Given the description of an element on the screen output the (x, y) to click on. 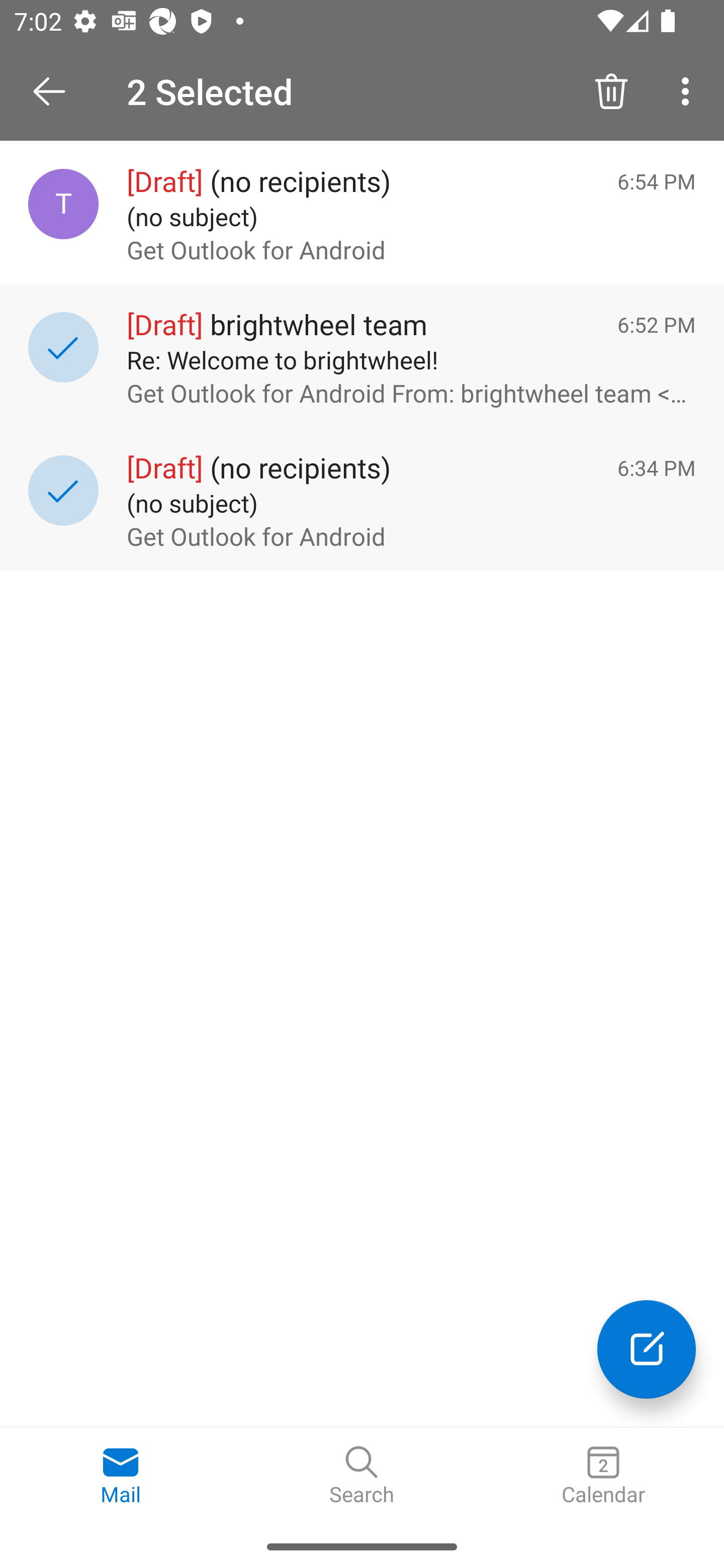
Delete (611, 90)
More options (688, 90)
Open Navigation Drawer (55, 91)
testappium001@outlook.com (63, 204)
Compose (646, 1348)
Search (361, 1475)
Calendar (603, 1475)
